Given the description of an element on the screen output the (x, y) to click on. 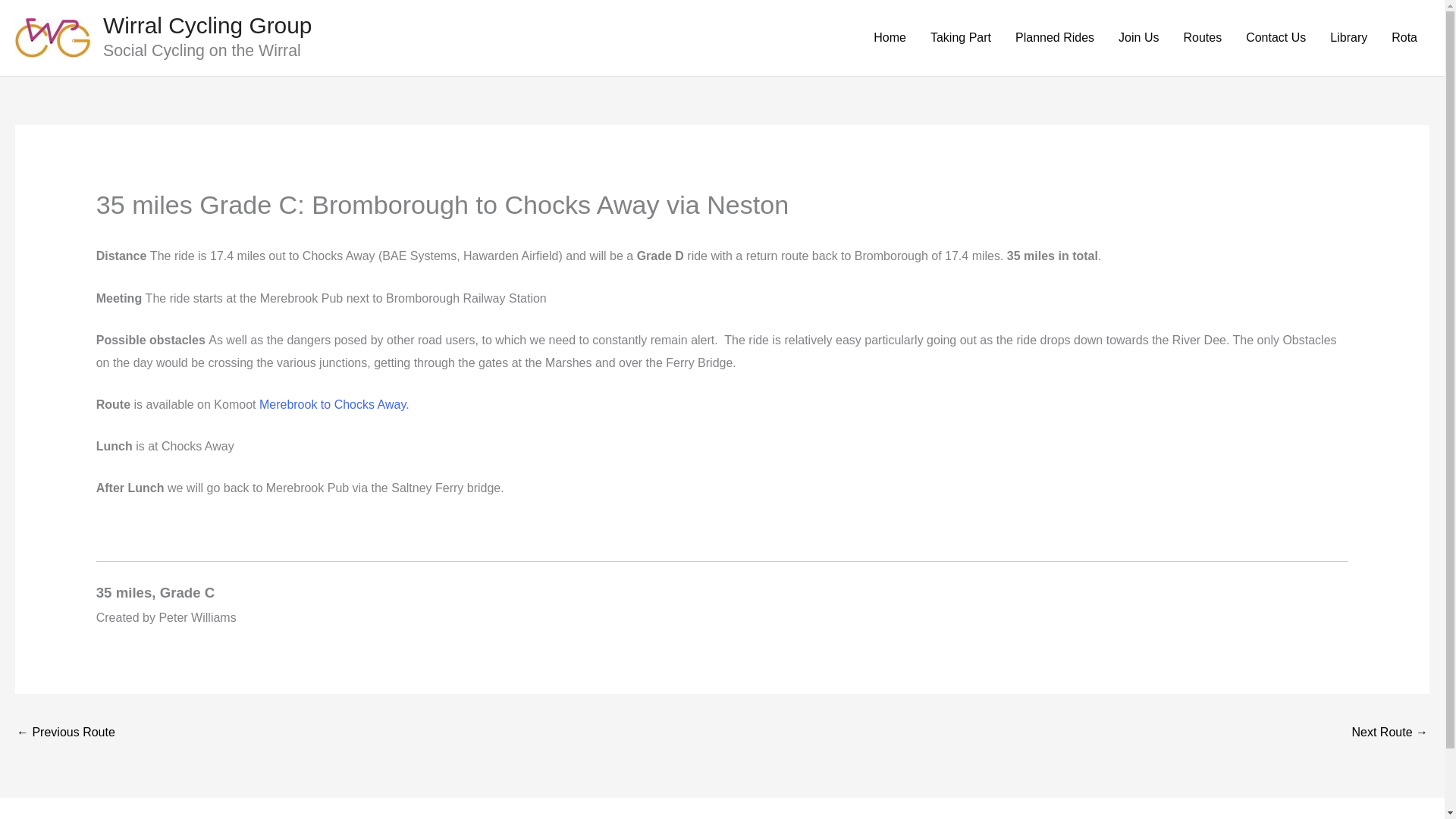
Wirral Cycling Group (207, 25)
Taking Part (960, 38)
25 miles, Grade D: Newcomers' Ride from Thornton Hough (65, 733)
Planned Rides (1054, 38)
Contact Us (1275, 38)
Merebrook to Chocks Away. (334, 404)
